Given the description of an element on the screen output the (x, y) to click on. 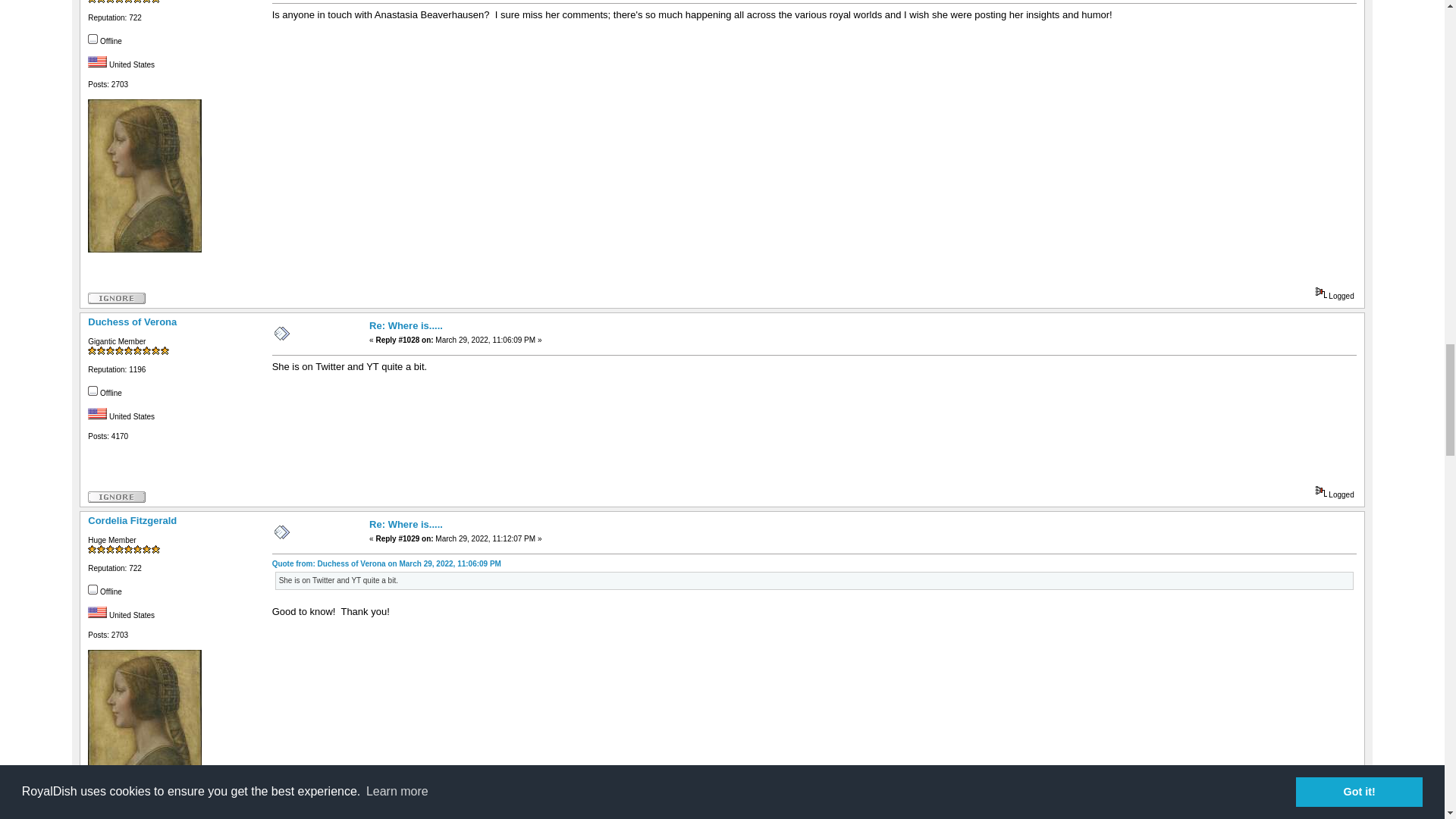
View the profile of Cordelia Fitzgerald (131, 520)
View the profile of Duchess of Verona (131, 321)
